Given the description of an element on the screen output the (x, y) to click on. 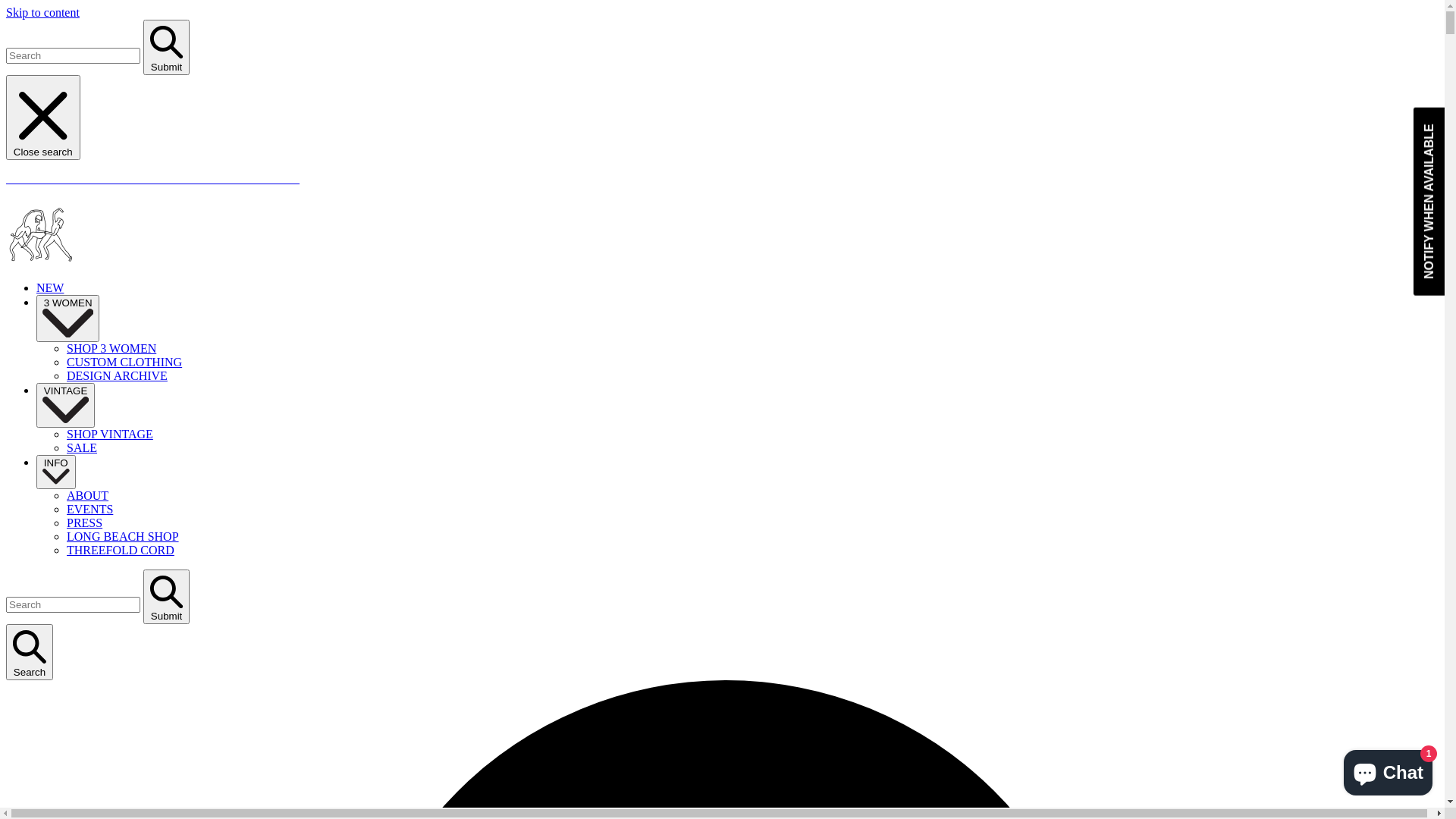
THREEFOLD CORD Element type: text (120, 549)
EVENTS Element type: text (89, 508)
NEW Element type: text (49, 287)
Close search Element type: text (43, 117)
DESIGN ARCHIVE Element type: text (116, 375)
SHOP VINTAGE Element type: text (109, 433)
SHOP 3 WOMEN Element type: text (111, 348)
CUSTOM CLOTHING Element type: text (124, 361)
Submit Element type: text (166, 596)
SALE Element type: text (81, 447)
Shopify online store chat Element type: hover (1388, 769)
LONG BEACH SHOP Element type: text (122, 536)
Submit Element type: text (166, 47)
PRESS Element type: text (84, 522)
Search Element type: text (29, 652)
ABOUT Element type: text (87, 495)
FREE US SHIPPING ON ALL ORDERS OVER $200 USD Element type: text (728, 178)
Skip to content Element type: text (42, 12)
